Given the description of an element on the screen output the (x, y) to click on. 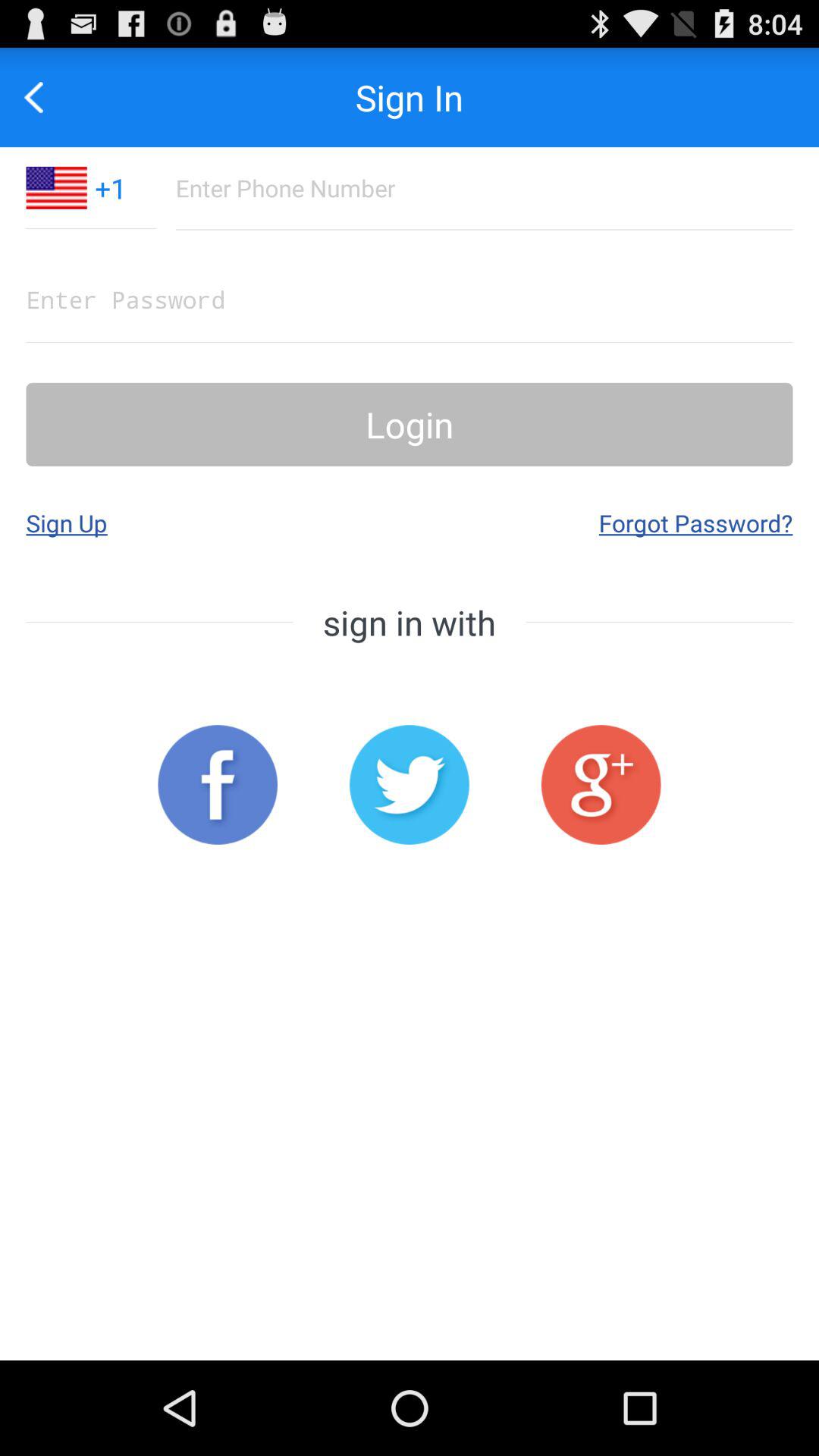
turn on the icon next to forgot password? icon (66, 522)
